Given the description of an element on the screen output the (x, y) to click on. 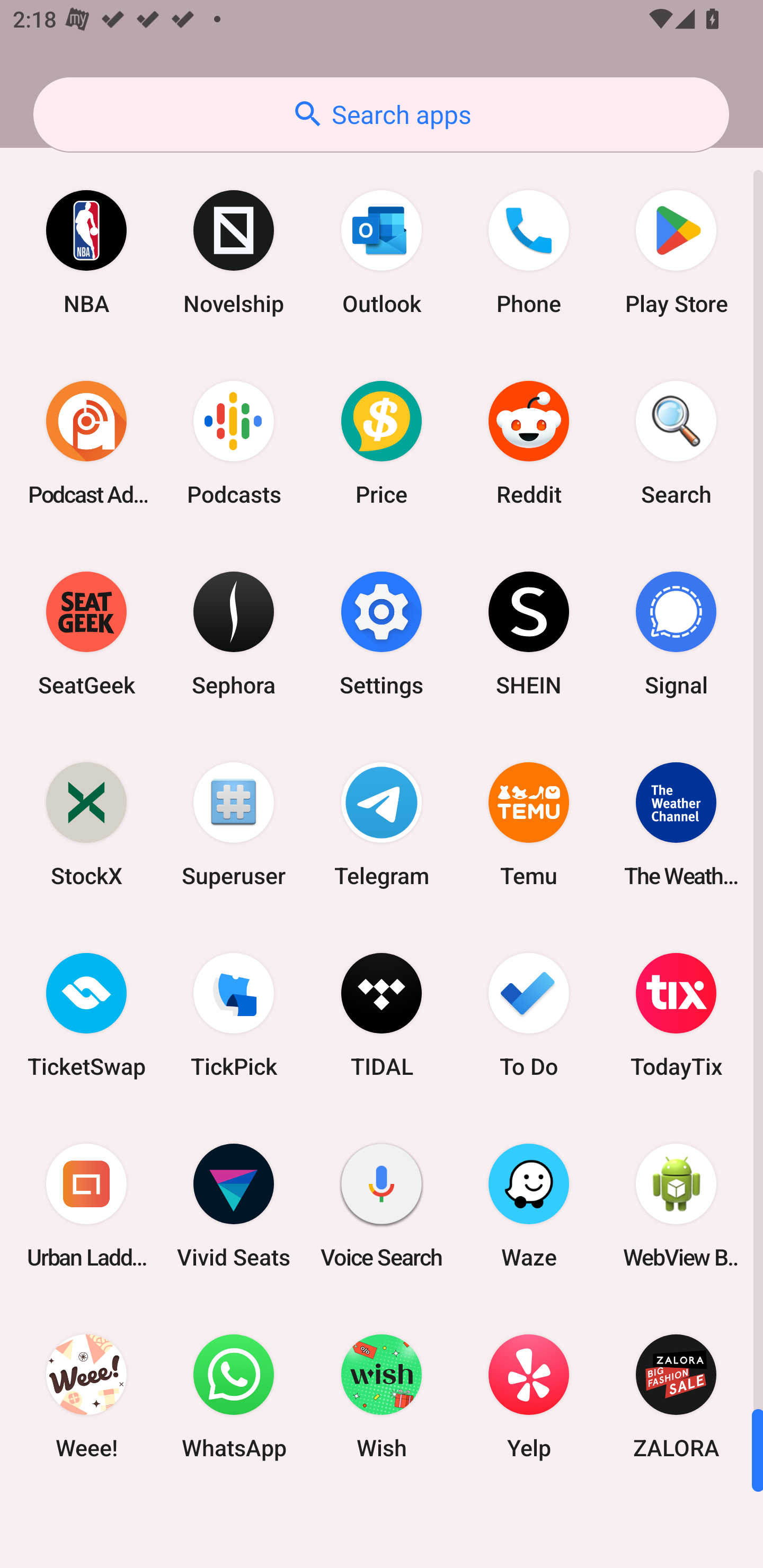
Signal (676, 633)
